Given the description of an element on the screen output the (x, y) to click on. 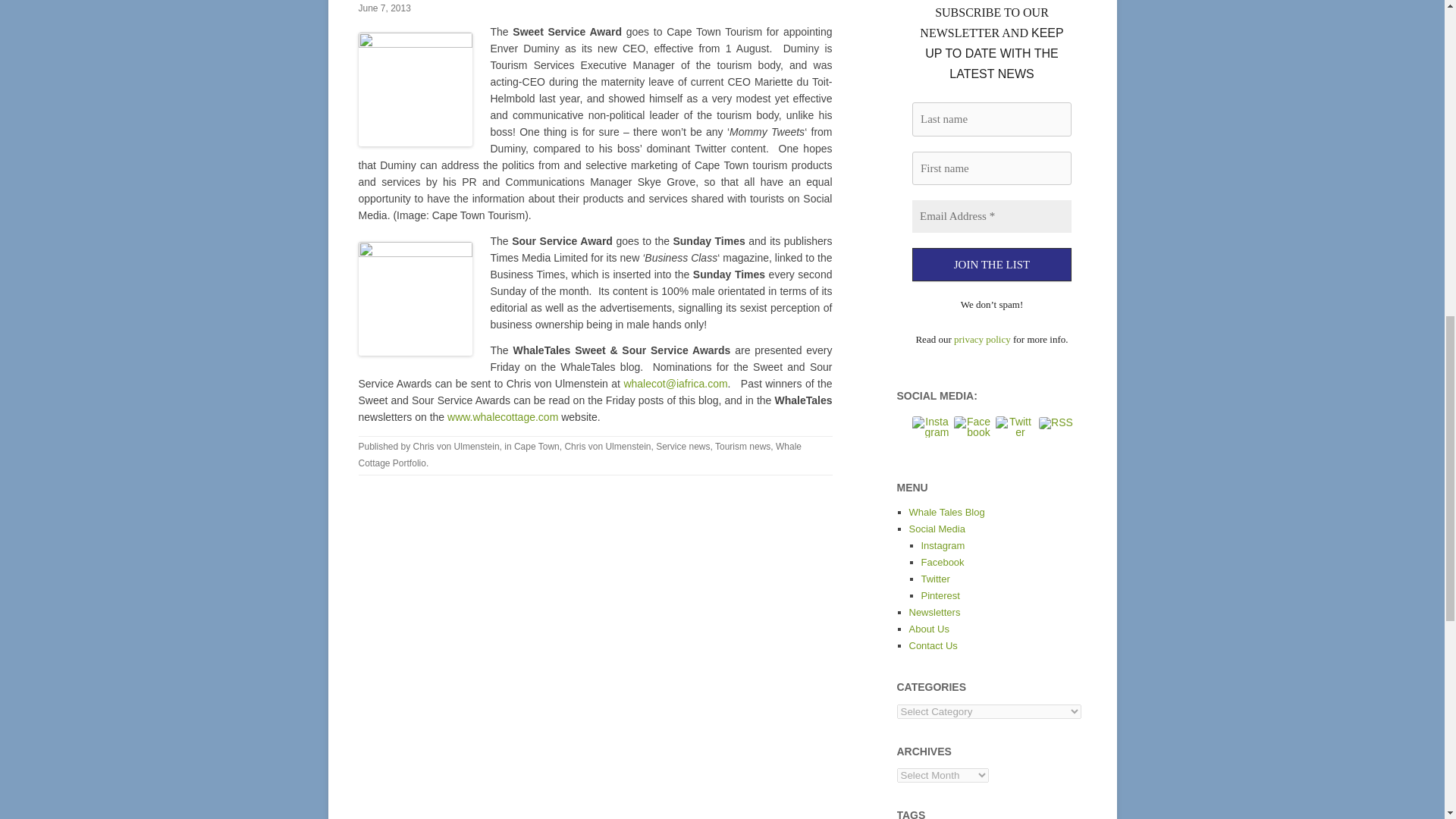
enver-duminy-cape-town-tourism (414, 89)
www.whalecottage.com (501, 417)
Cape Town (536, 446)
Tourism news (742, 446)
View all posts by Chris von Ulmenstein (456, 446)
First name (990, 168)
JOIN THE LIST (990, 264)
Email Address (990, 215)
Whale Cottage Portfolio (580, 454)
